Given the description of an element on the screen output the (x, y) to click on. 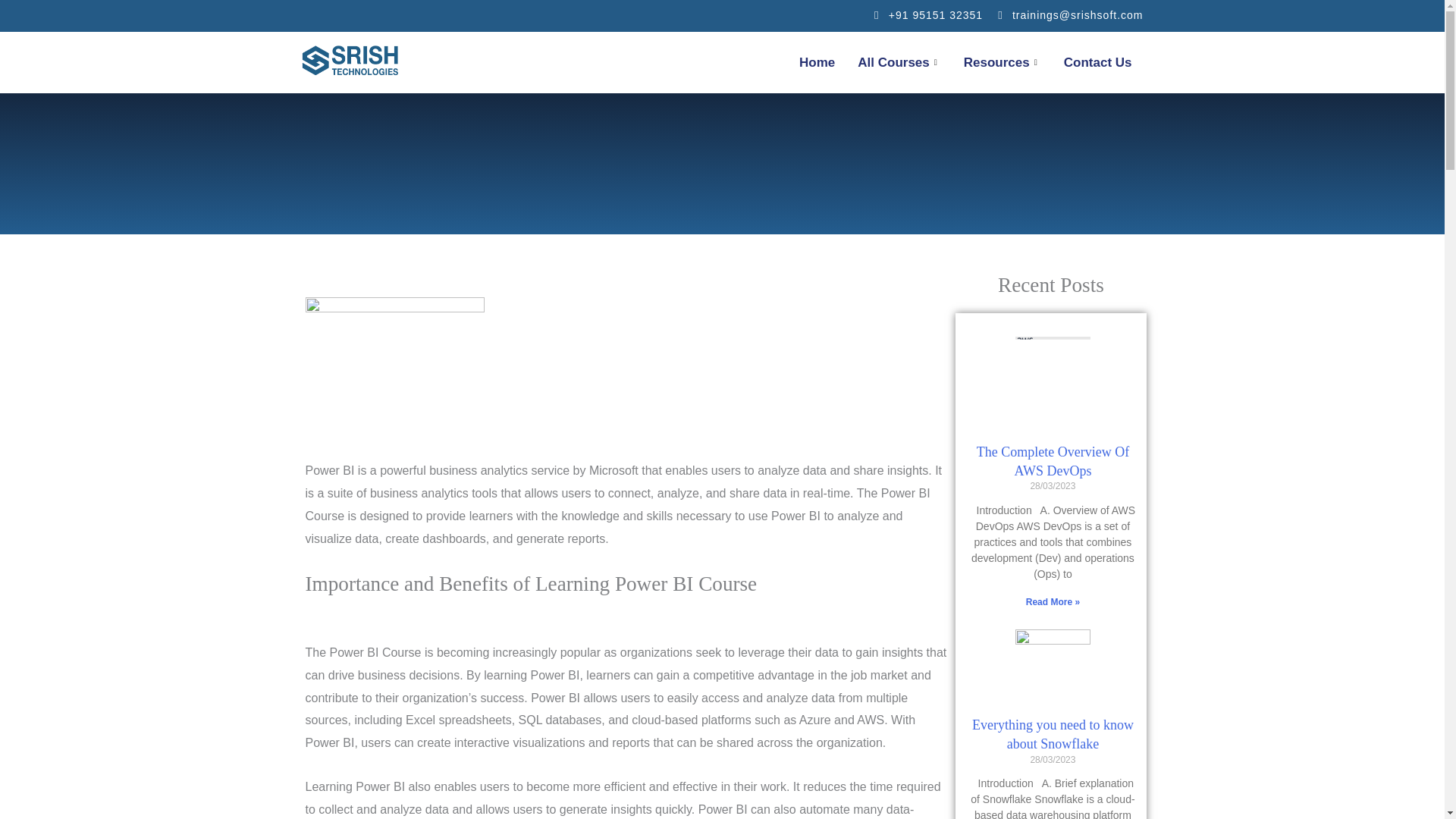
All Courses (898, 62)
Contact Us (1097, 62)
The Complete Overview Of AWS DevOps (1052, 461)
Everything you need to know about Snowflake (1053, 734)
Resources (1002, 62)
Home (816, 62)
